Given the description of an element on the screen output the (x, y) to click on. 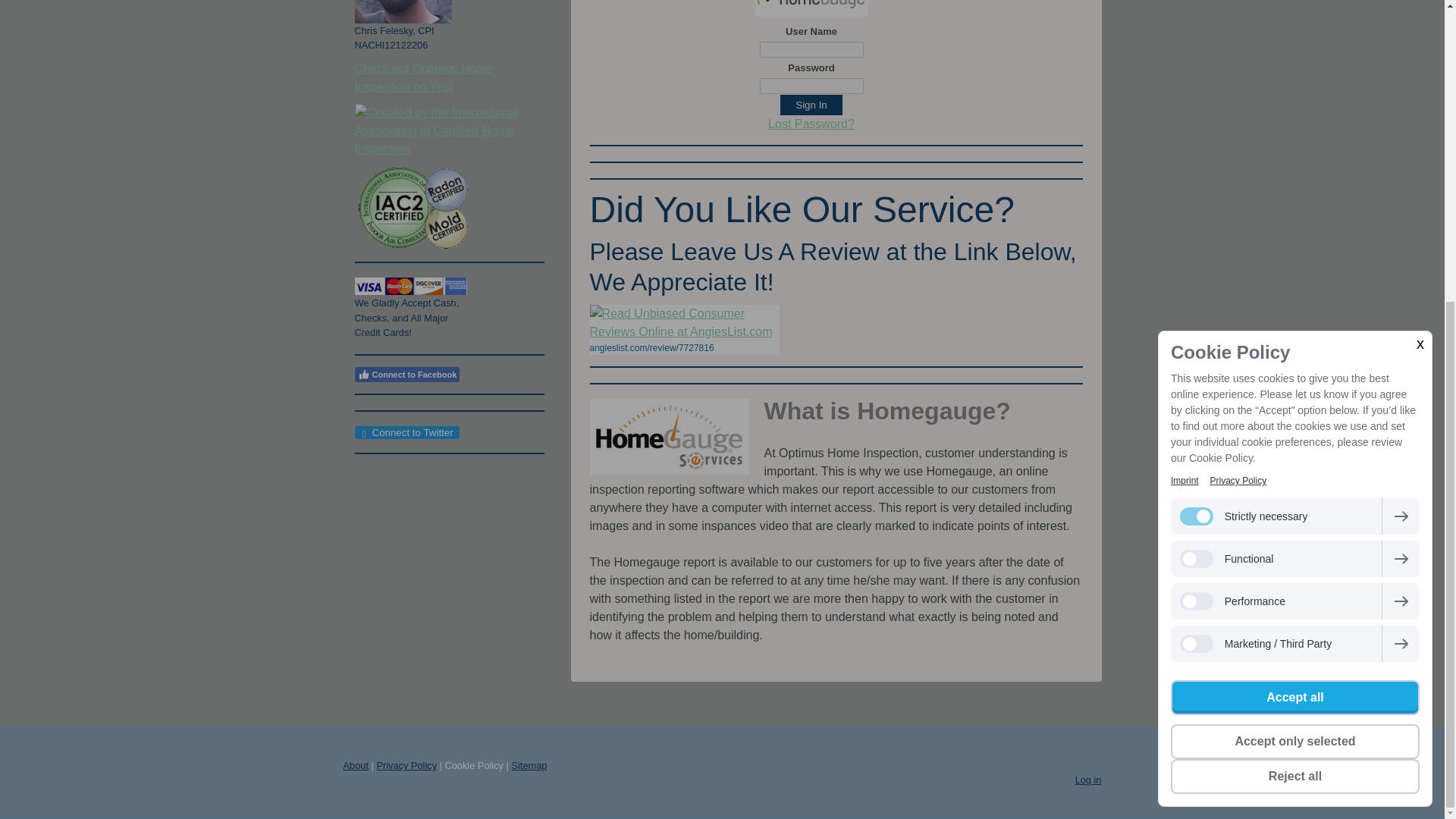
Connect to Facebook (407, 374)
Sitemap (529, 765)
Check out Optimus Home Inspection on Yelp (424, 77)
Connect to Twitter (407, 431)
About (355, 765)
Lost Password? (811, 123)
Log in (1088, 779)
Privacy Policy (405, 765)
Sign In (811, 105)
Cookie Policy (473, 765)
Sign In (811, 105)
